Given the description of an element on the screen output the (x, y) to click on. 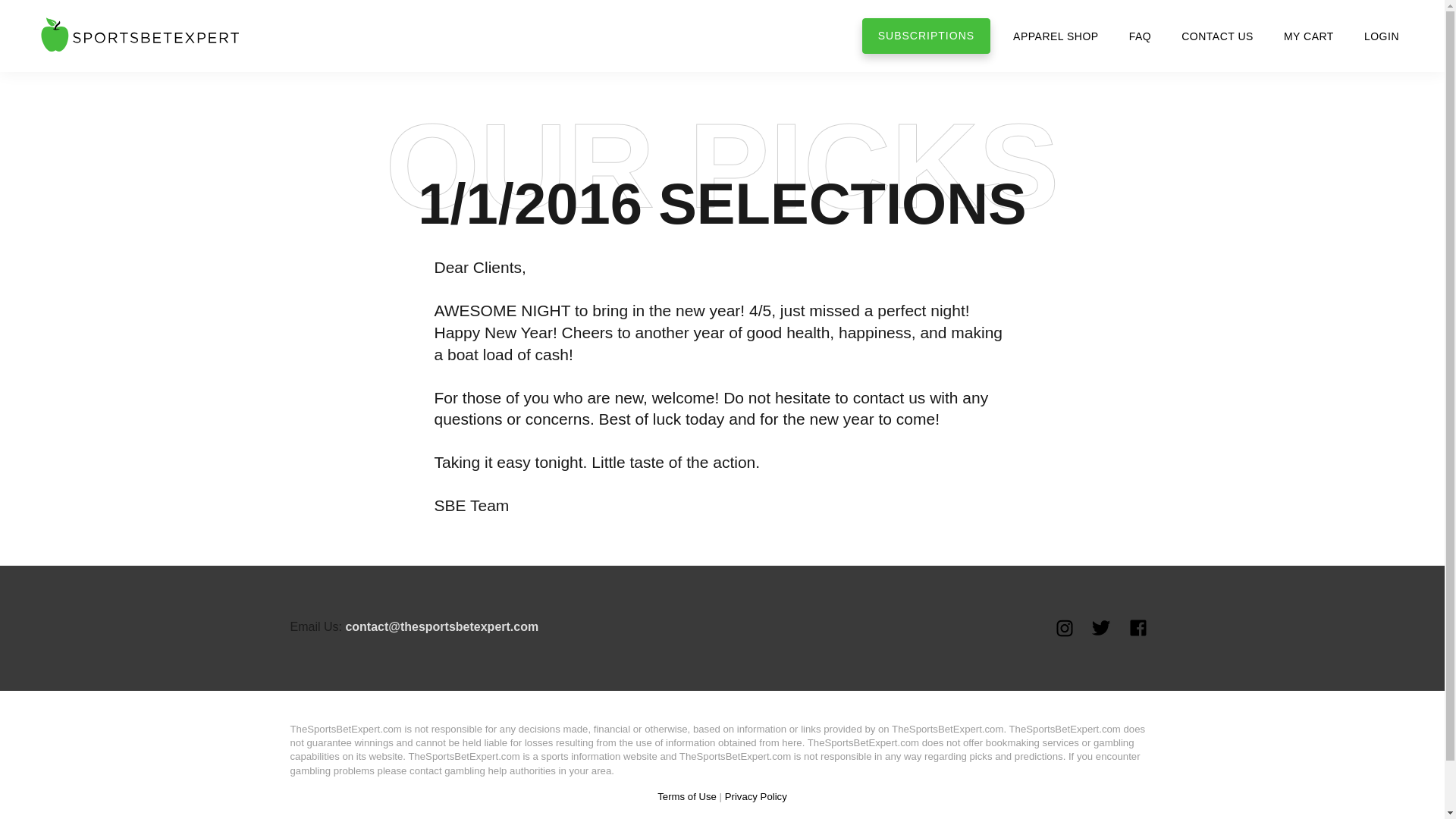
Privacy Policy (756, 796)
MY CART (1308, 36)
FAQ (1140, 36)
SUBSCRIPTIONS (925, 36)
CONTACT US (1217, 36)
Terms of Use (687, 796)
LOGIN (1381, 36)
APPAREL SHOP (1055, 36)
